Given the description of an element on the screen output the (x, y) to click on. 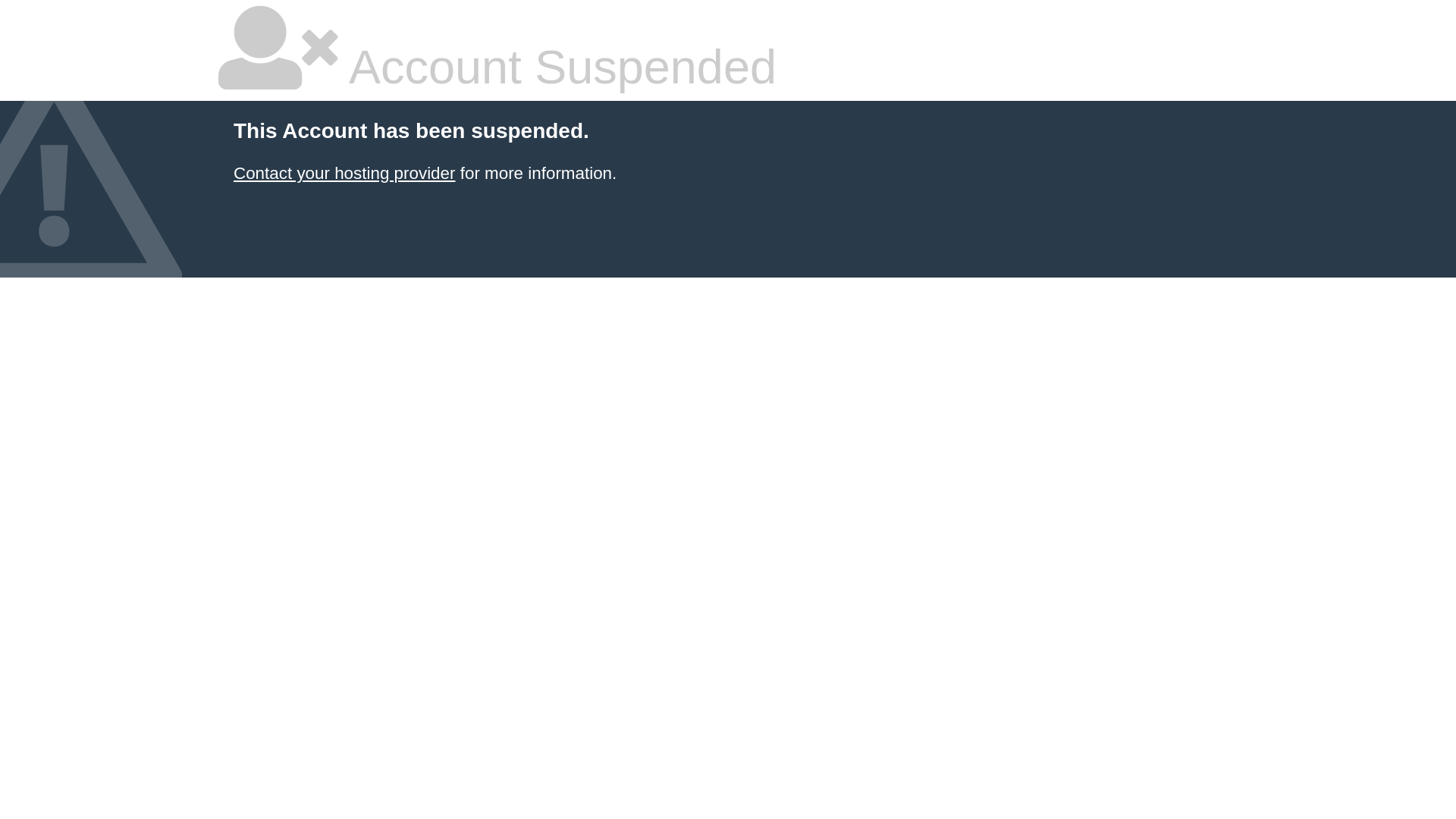
Contact your hosting provider Element type: text (344, 172)
